Given the description of an element on the screen output the (x, y) to click on. 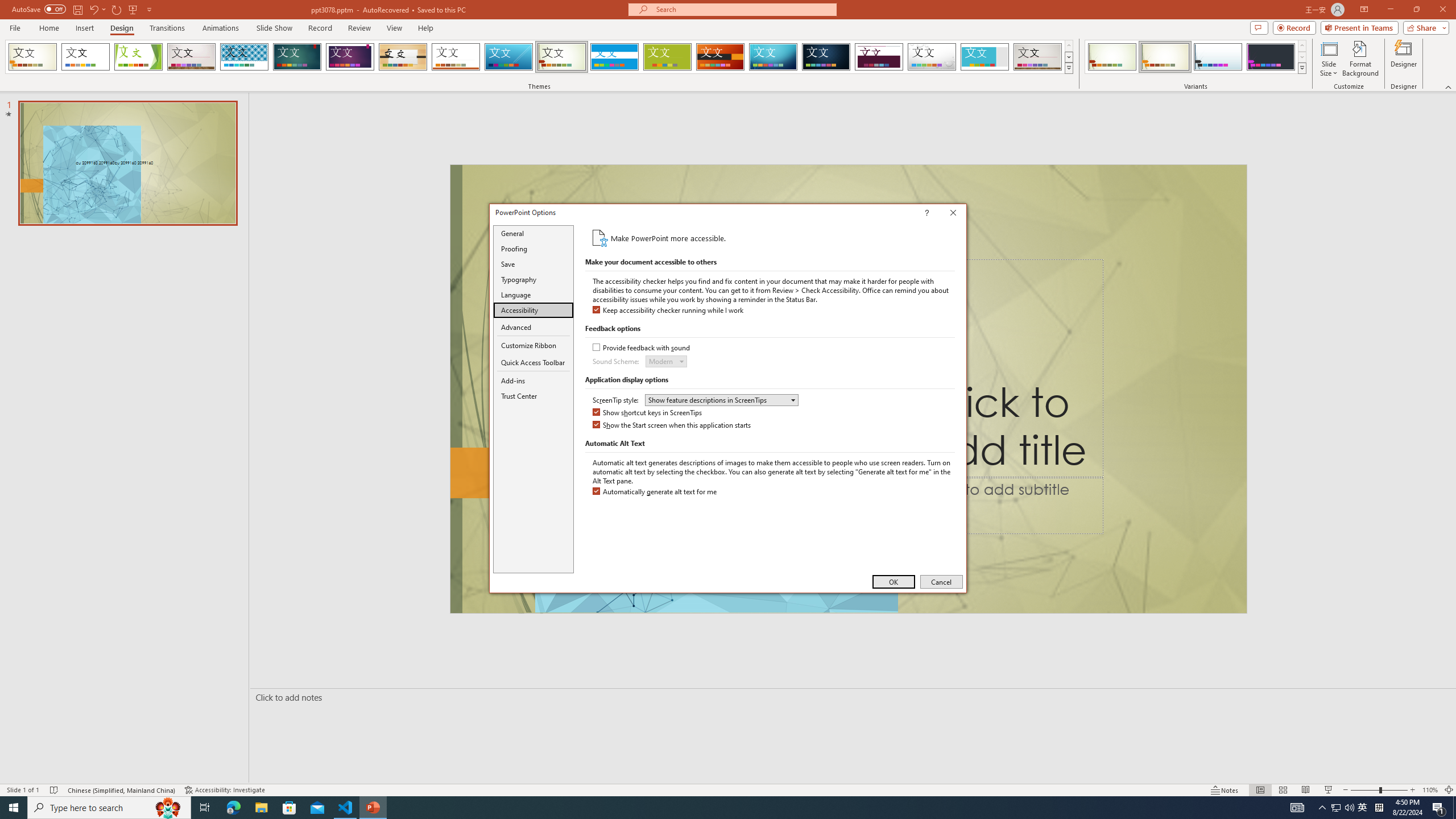
Damask Loading Preview... (826, 56)
Circuit Loading Preview... (772, 56)
Ion Boardroom Loading Preview... (350, 56)
Show shortcut keys in ScreenTips (648, 412)
Ion Loading Preview... (296, 56)
Proofing (533, 248)
Droplet Loading Preview... (931, 56)
